Given the description of an element on the screen output the (x, y) to click on. 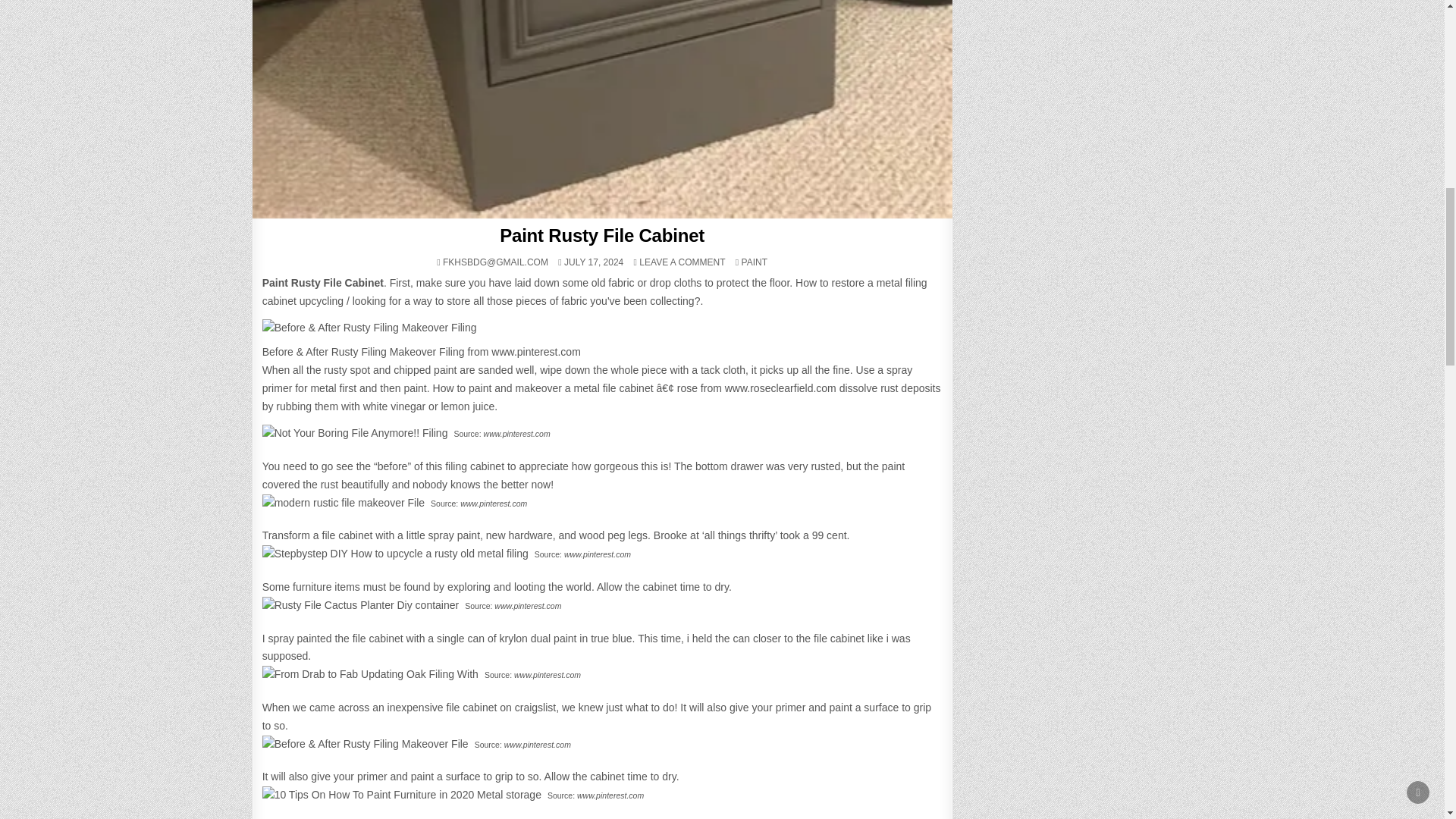
Paint Rusty File Cabinet (601, 235)
Paint Rusty File Cabinet 8 (365, 744)
Paint Rusty File Cabinet 2 (369, 328)
PAINT (754, 262)
Paint Rusty File Cabinet 9 (401, 795)
Paint Rusty File Cabinet 4 (343, 503)
Paint Rusty File Cabinet 5 (395, 554)
Paint Rusty File Cabinet 3 (355, 434)
Paint Rusty File Cabinet 6 (361, 606)
